Given the description of an element on the screen output the (x, y) to click on. 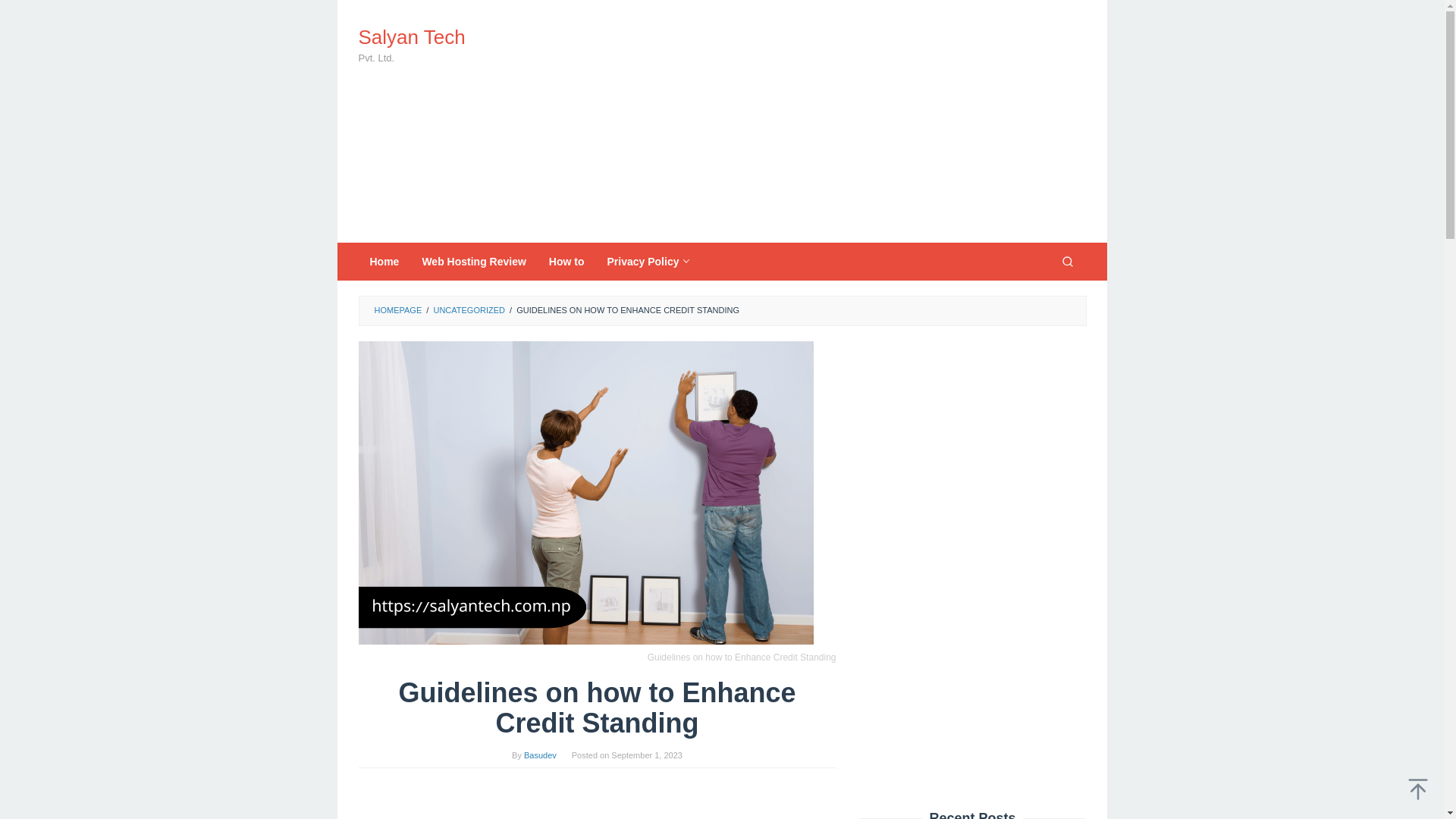
UNCATEGORIZED (468, 309)
Home (384, 261)
Basudev (540, 755)
Salyan Tech (411, 36)
Web Hosting Review (473, 261)
Privacy Policy (648, 261)
Search (1067, 261)
Advertisement (596, 800)
HOMEPAGE (398, 309)
How to (566, 261)
Permalink to: Basudev (540, 755)
Salyan Tech (411, 36)
Advertisement (809, 121)
